Given the description of an element on the screen output the (x, y) to click on. 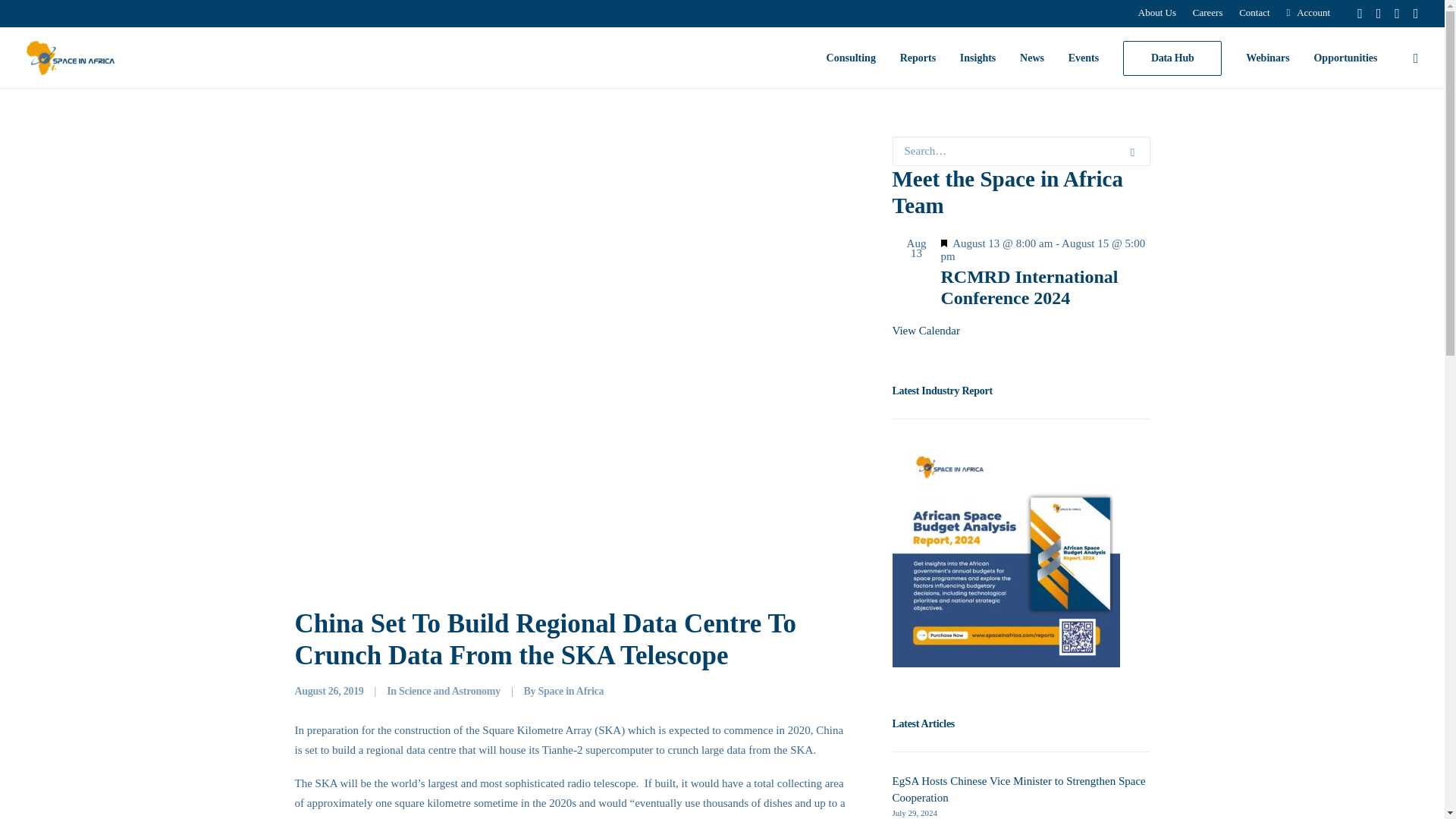
Insights (977, 57)
Webinars (1267, 57)
Science and Astronomy (449, 690)
Space in Africa (570, 690)
Consulting (850, 57)
Data Hub (1172, 58)
About Us (1156, 12)
View Calendar (925, 330)
Contact (1253, 12)
Careers (1208, 12)
Insights (977, 57)
Opportunities (1340, 57)
Contact (1253, 12)
Careers (1208, 12)
